Given the description of an element on the screen output the (x, y) to click on. 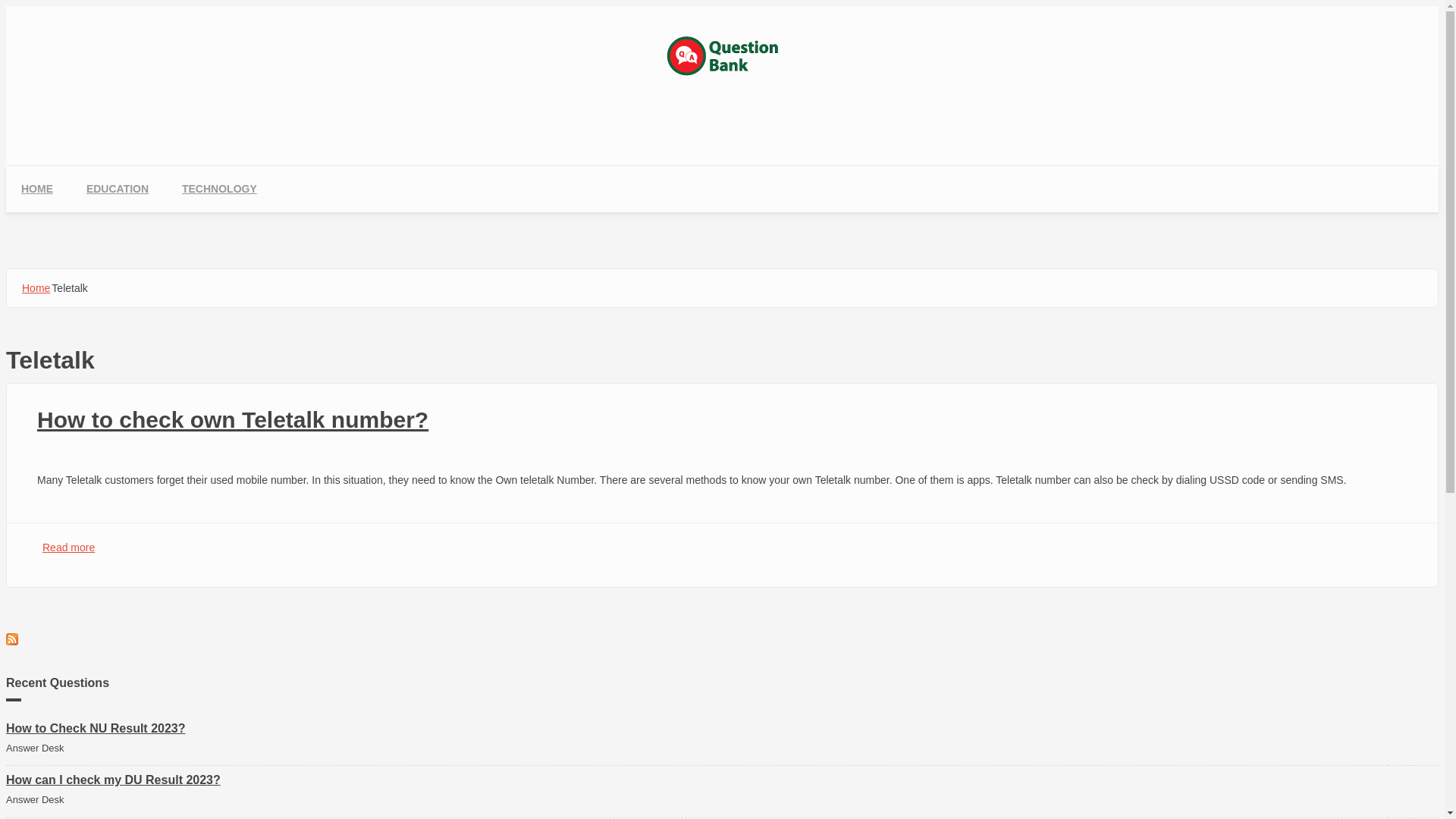
Read more
about How to check own Teletalk number? Element type: text (68, 547)
Subscribe to RSS - Teletalk Element type: hover (722, 639)
How can I check my DU Result 2023? Element type: text (113, 779)
How to check own Teletalk number? Element type: text (232, 419)
HOME Element type: text (37, 189)
Home Element type: hover (722, 71)
Skip to main content Element type: text (54, 6)
EDUCATION Element type: text (117, 189)
Home Element type: text (35, 288)
How to Check NU Result 2023? Element type: text (95, 727)
TECHNOLOGY Element type: text (219, 189)
